Given the description of an element on the screen output the (x, y) to click on. 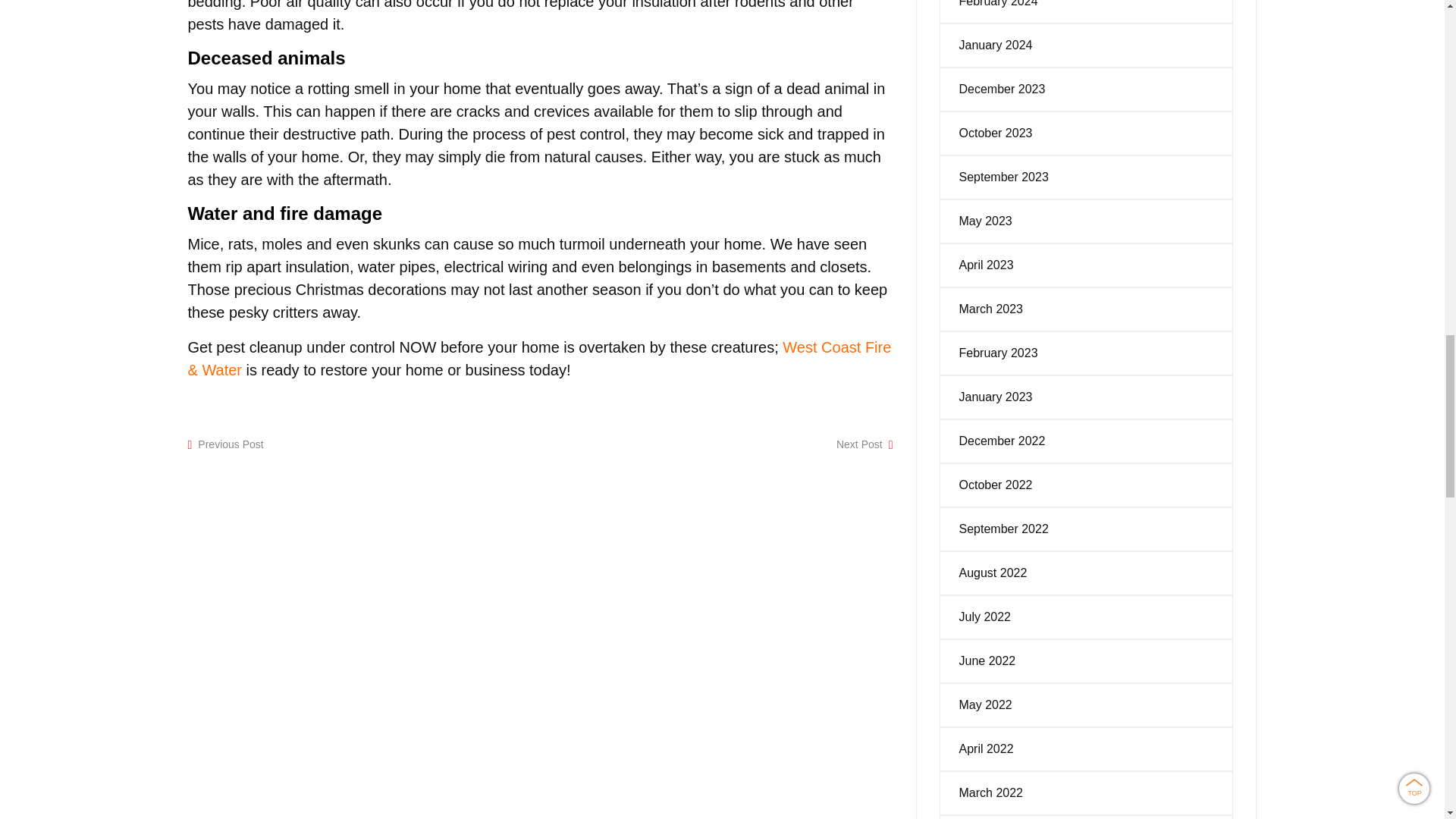
The Disaster Left Behind by Rodents (230, 444)
Our Services Are Always Available, Regardless of the Season! (858, 444)
